Given the description of an element on the screen output the (x, y) to click on. 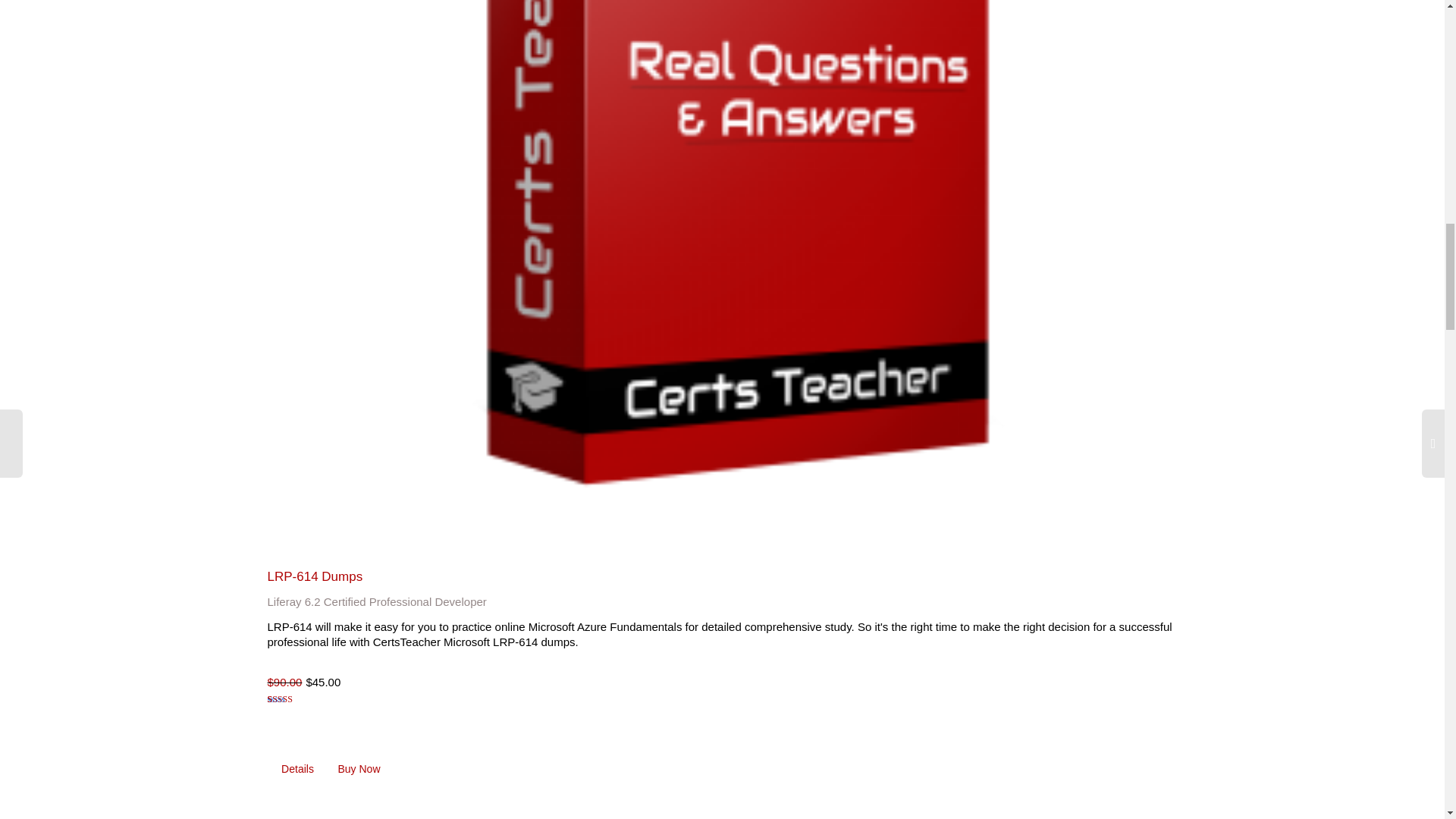
Buy Now (358, 769)
Details (296, 769)
LRP-614 Dumps (314, 576)
